Given the description of an element on the screen output the (x, y) to click on. 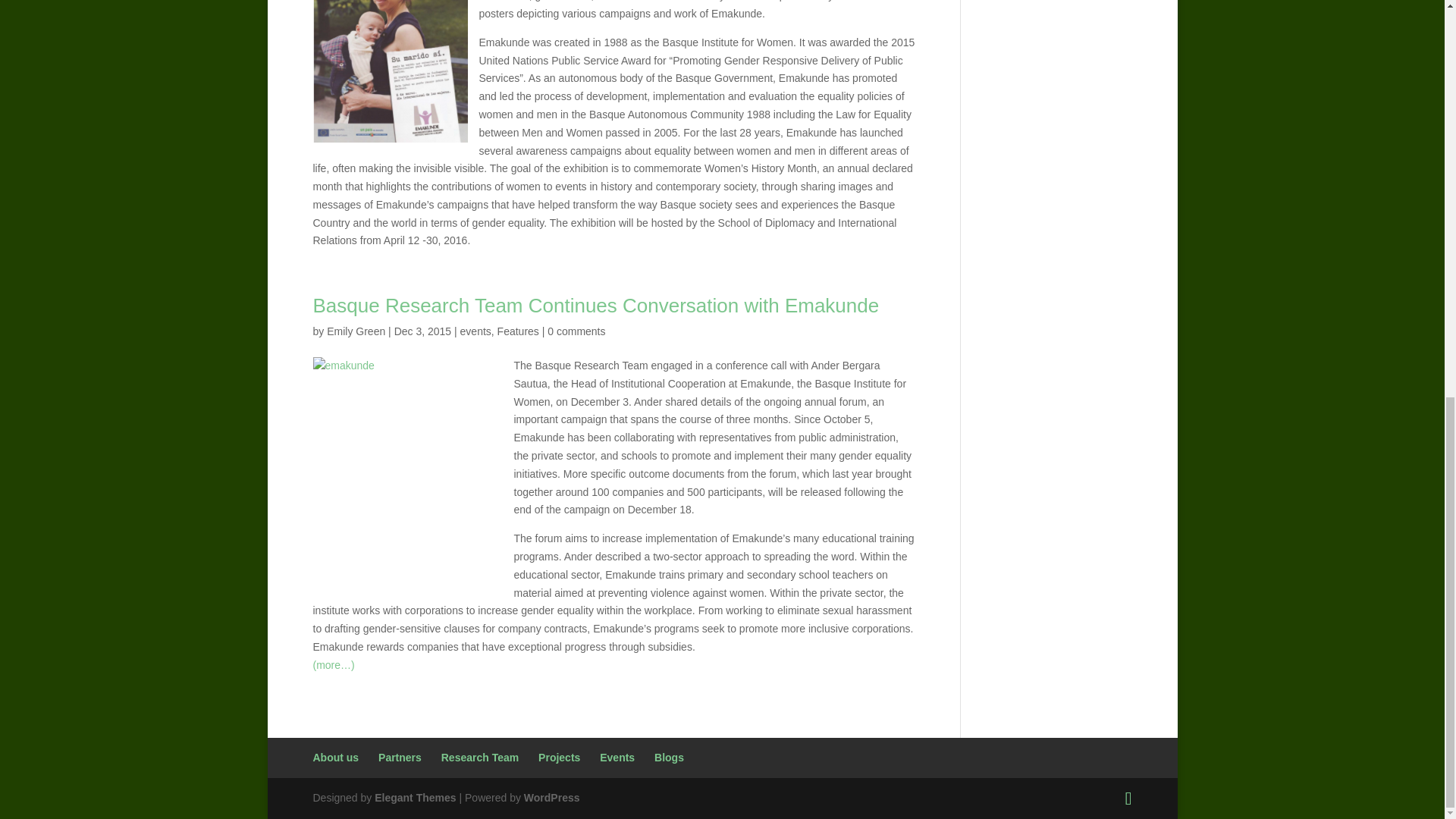
Posts by Emily Green (355, 331)
Premium WordPress Themes (414, 797)
